Given the description of an element on the screen output the (x, y) to click on. 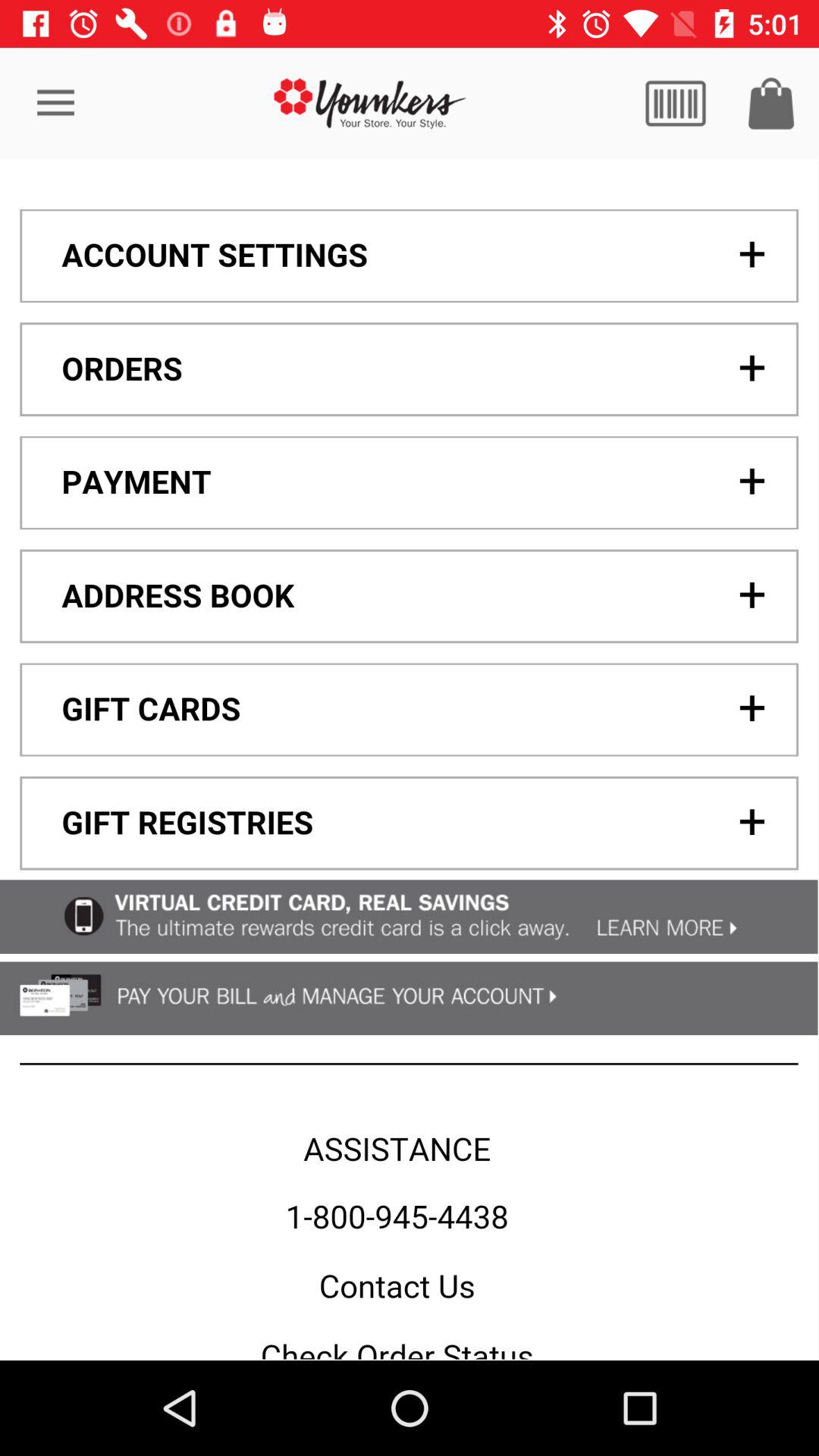
app screen area (408, 759)
